Given the description of an element on the screen output the (x, y) to click on. 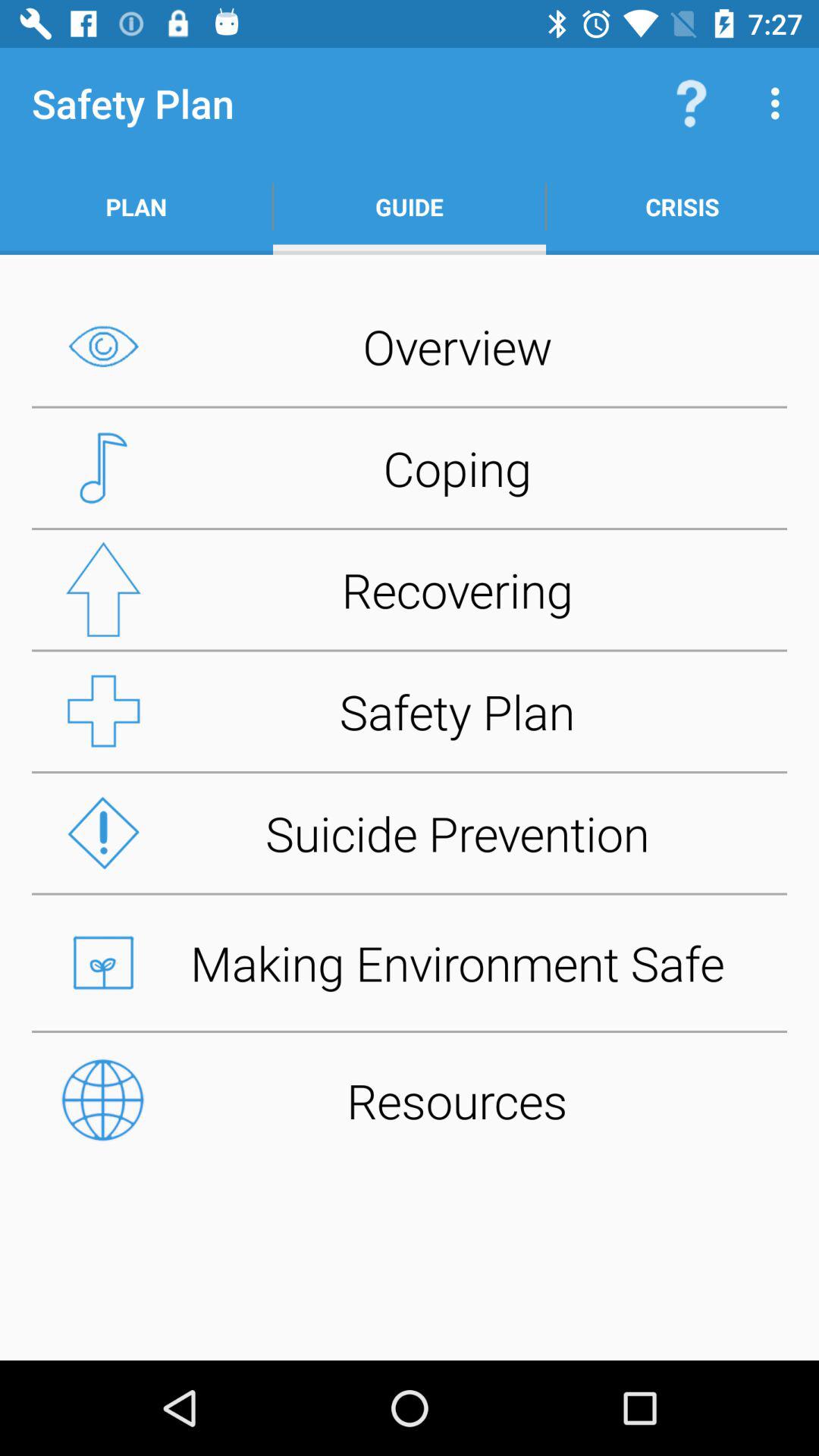
click the app next to the guide (691, 103)
